Given the description of an element on the screen output the (x, y) to click on. 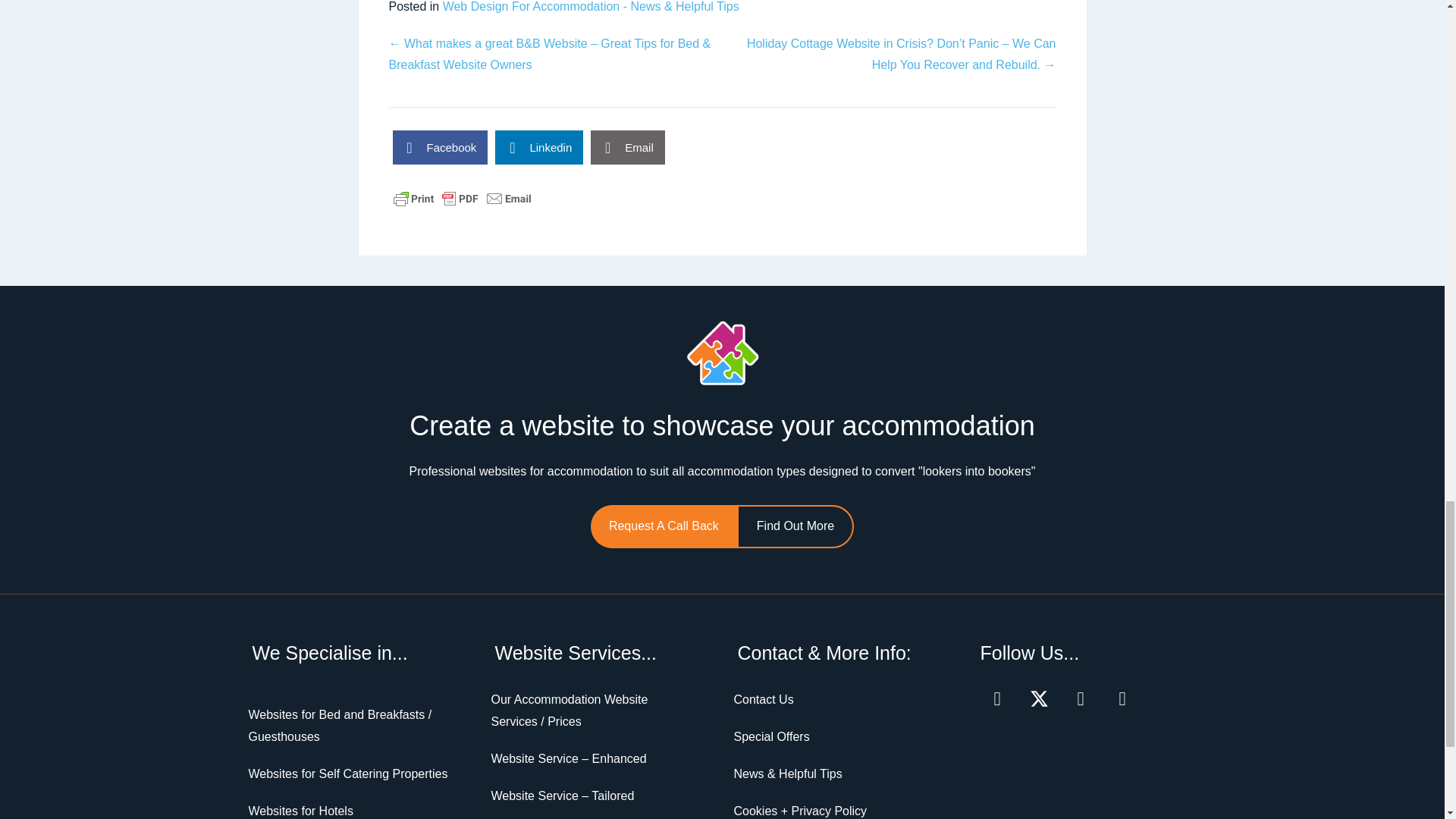
YouTube (1122, 698)
Facebook (996, 698)
Pinterest (1079, 698)
